Given the description of an element on the screen output the (x, y) to click on. 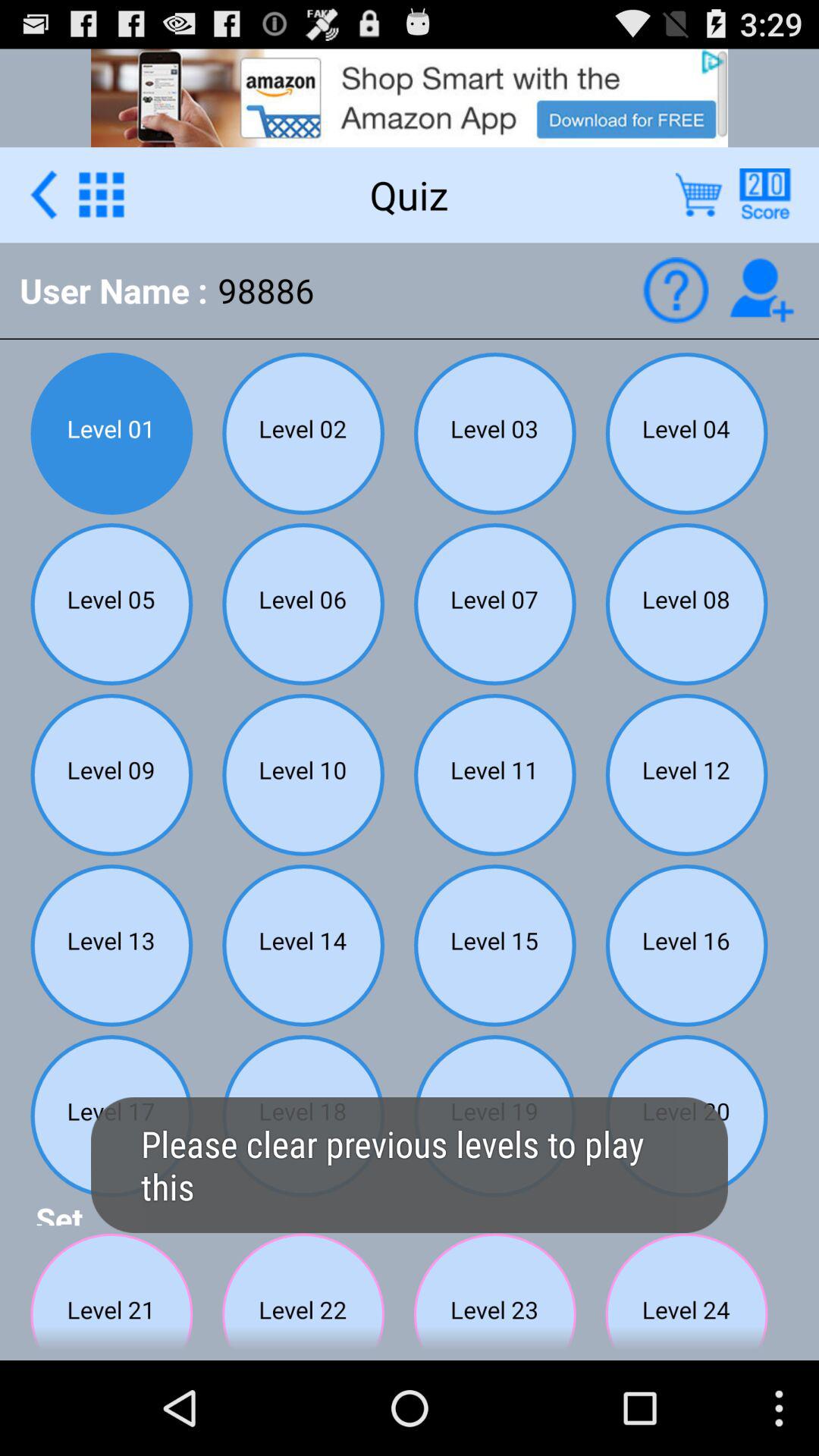
open scoreboards (764, 194)
